Given the description of an element on the screen output the (x, y) to click on. 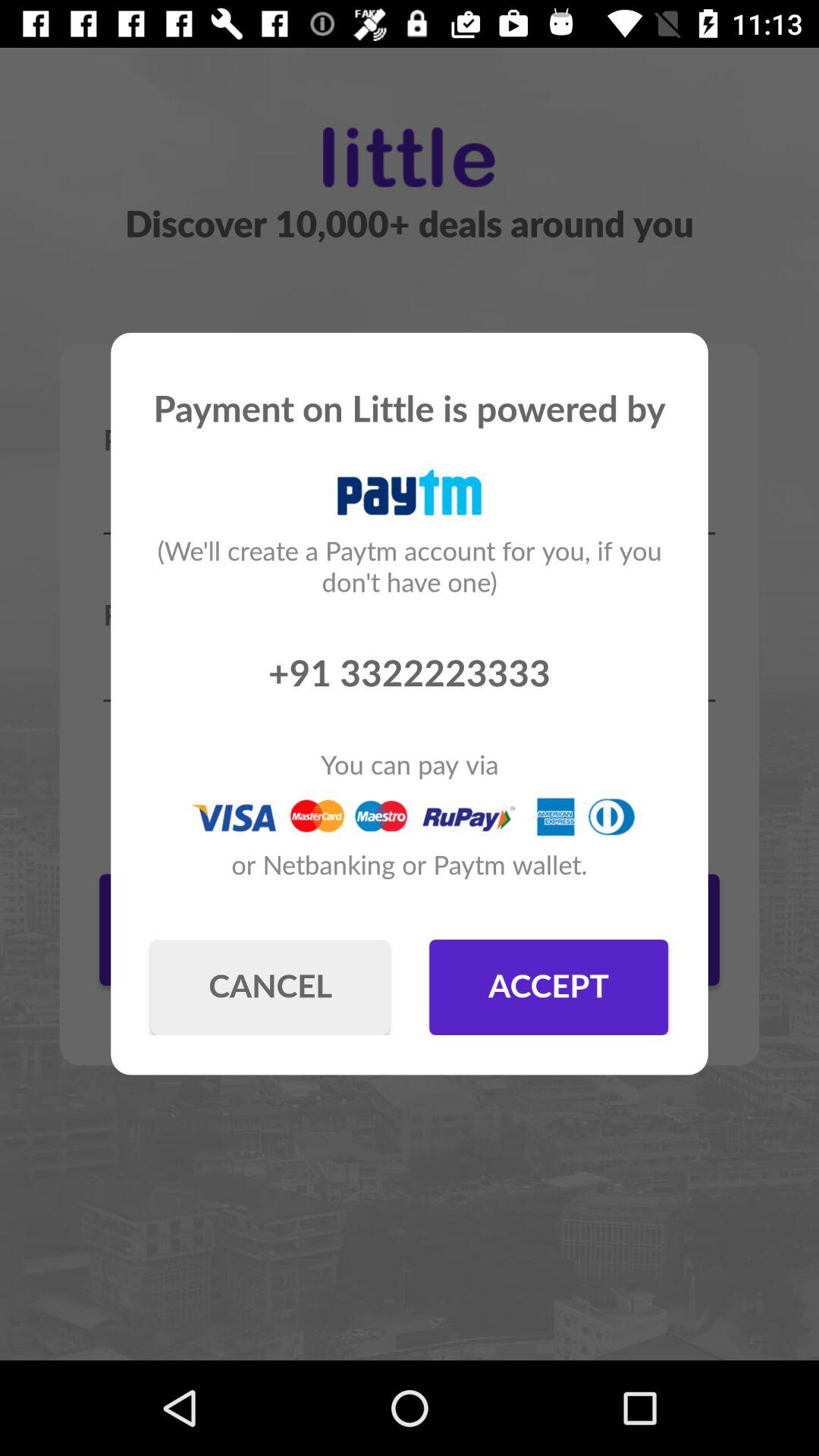
choose item next to the accept icon (269, 987)
